Given the description of an element on the screen output the (x, y) to click on. 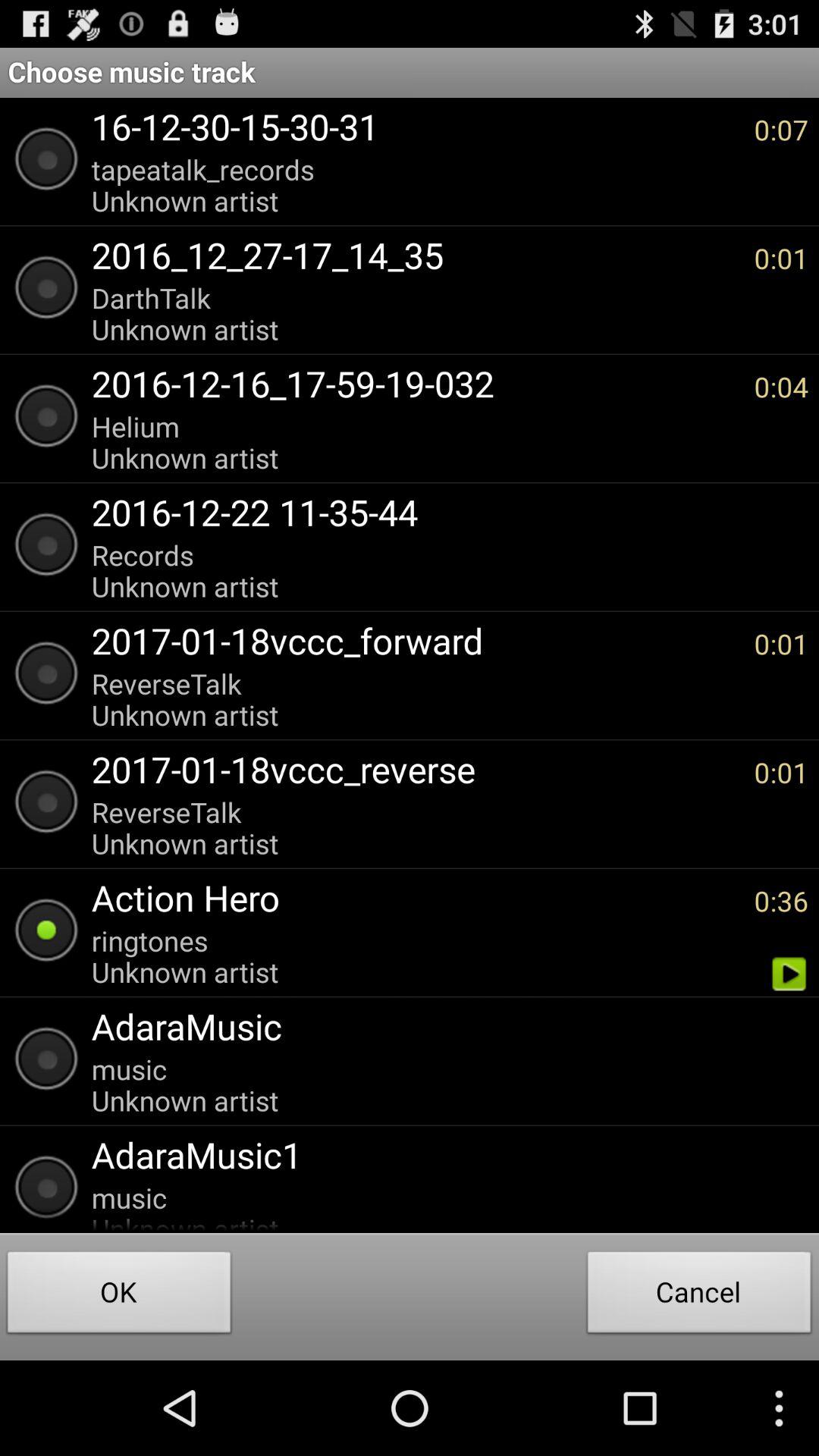
tap the action hero app (414, 897)
